Given the description of an element on the screen output the (x, y) to click on. 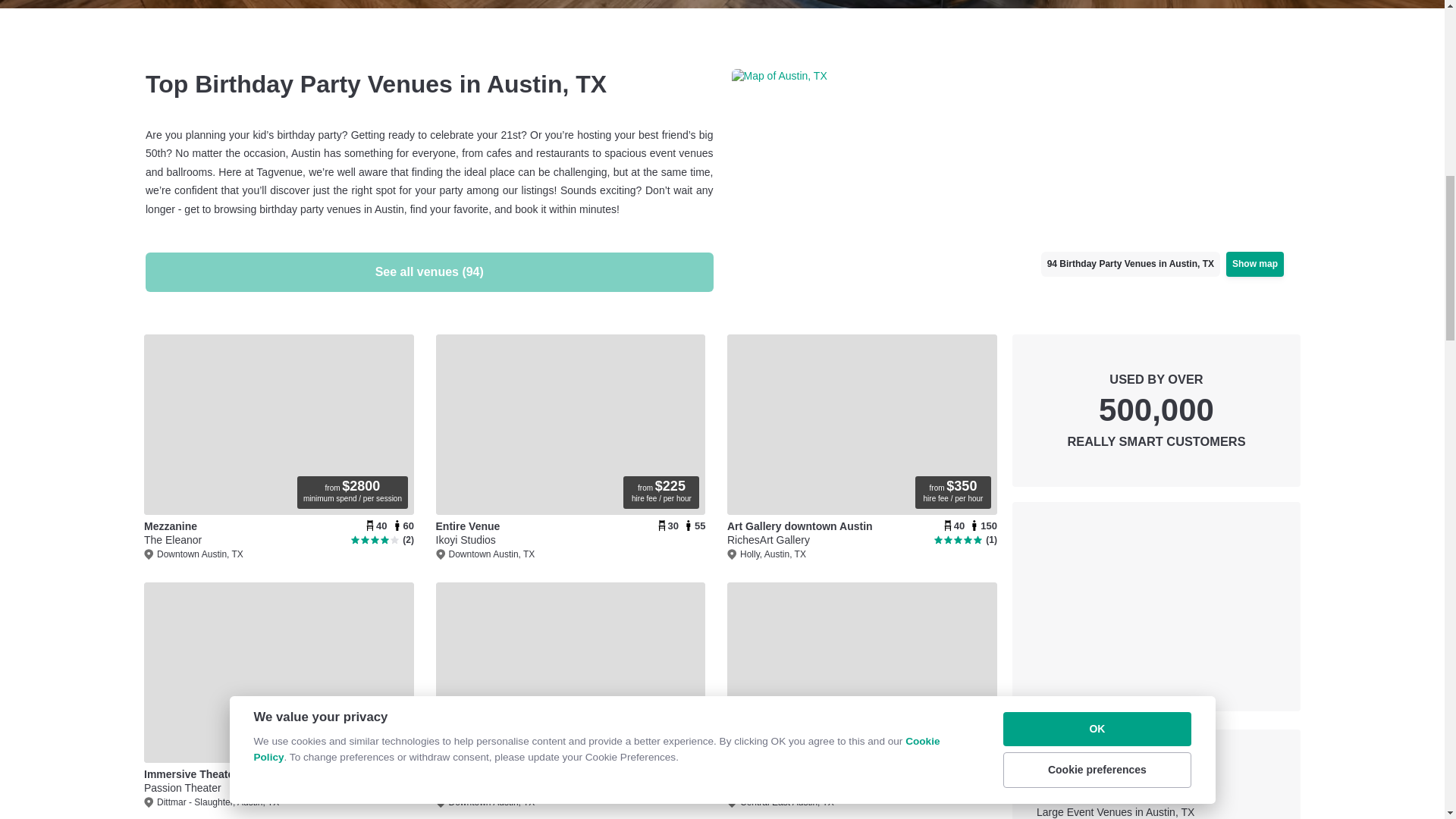
Small Party Venues in Austin, TX (1014, 144)
Large Event Venues in Austin, TX (1156, 790)
